Given the description of an element on the screen output the (x, y) to click on. 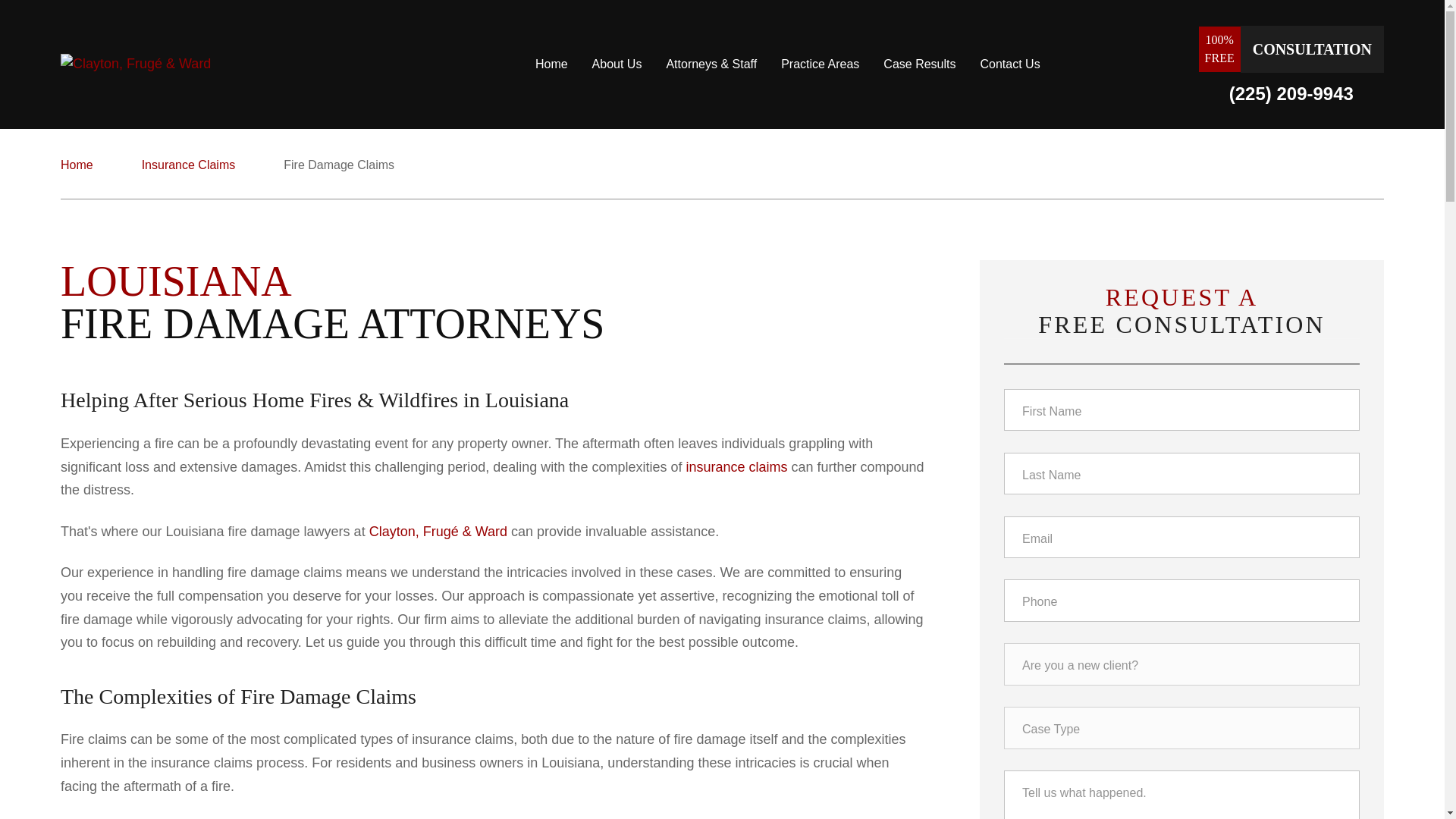
Go Home (77, 164)
Home (77, 164)
Contact Us (1009, 64)
Home (551, 64)
Insurance Claims (188, 165)
Practice Areas (819, 64)
About Us (617, 64)
Case Results (919, 64)
Home (219, 64)
insurance claims (736, 467)
